Given the description of an element on the screen output the (x, y) to click on. 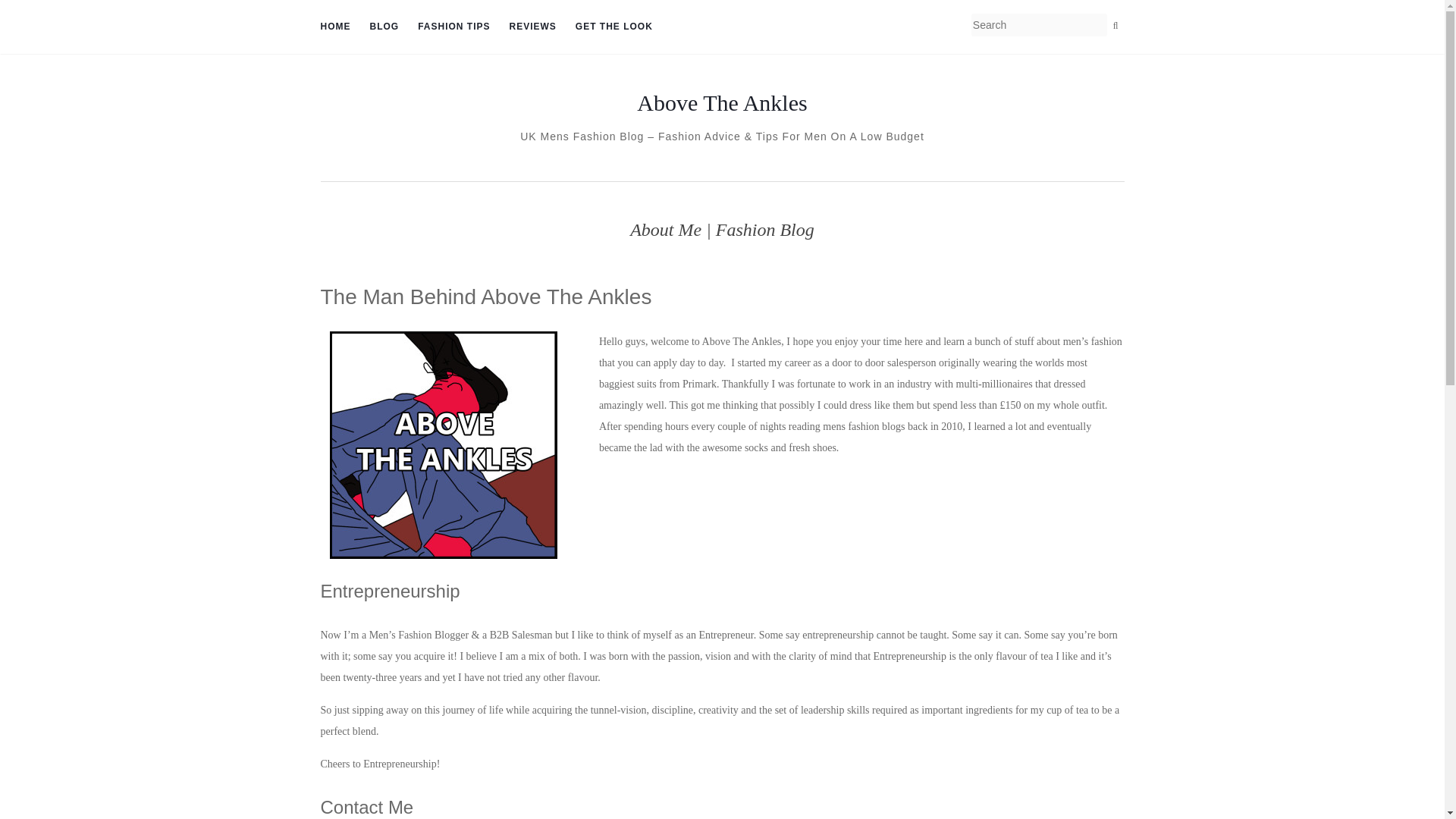
Above The Ankles (721, 102)
GET THE LOOK (613, 27)
Home (335, 27)
Get The Look (613, 27)
Above The Ankles (721, 102)
REVIEWS (532, 27)
Blog (383, 27)
FASHION TIPS (453, 27)
BLOG (383, 27)
Fashion Tips (453, 27)
Search (1115, 25)
HOME (335, 27)
Reviews (532, 27)
